Given the description of an element on the screen output the (x, y) to click on. 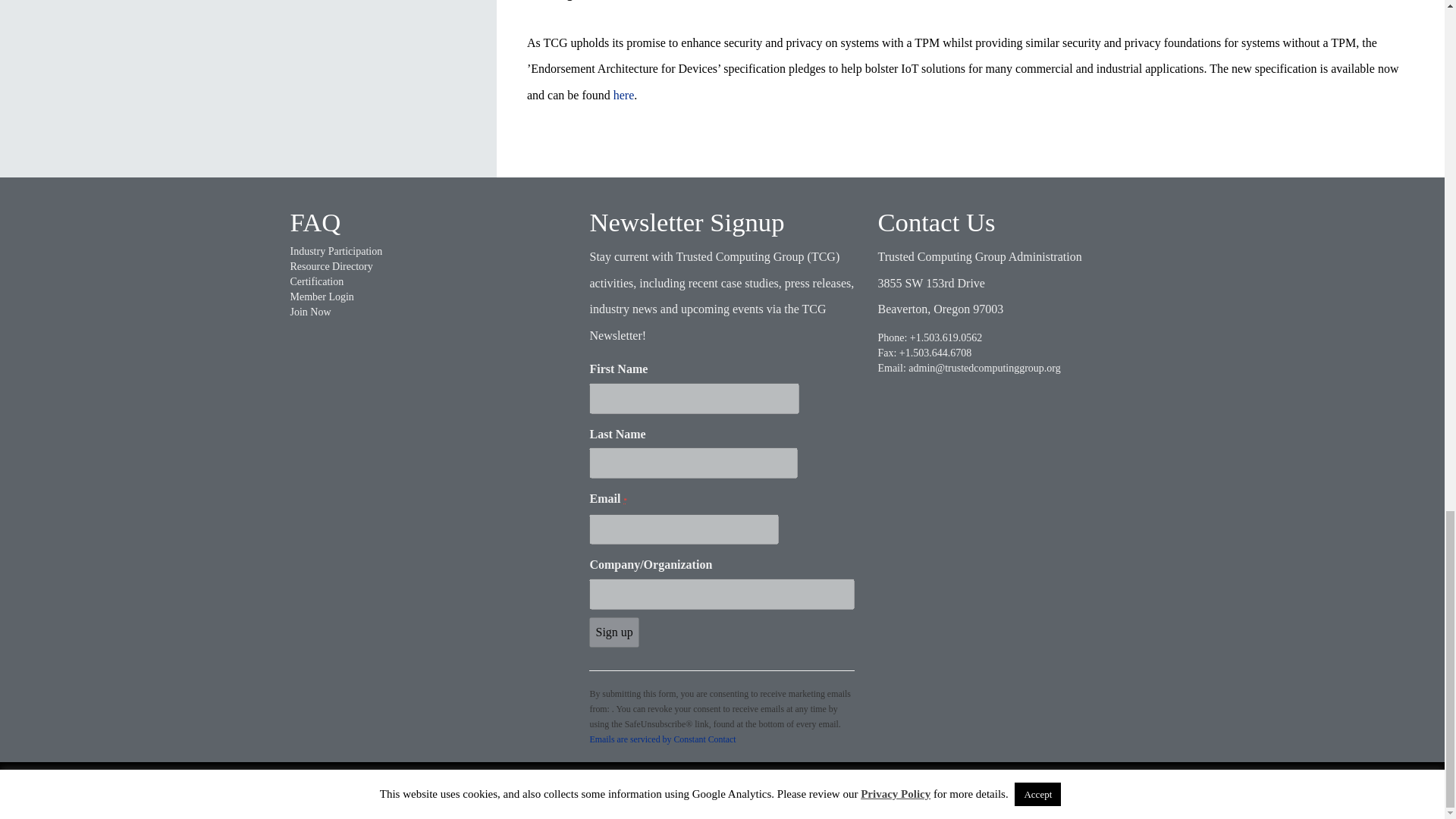
Sign up (614, 632)
